Given the description of an element on the screen output the (x, y) to click on. 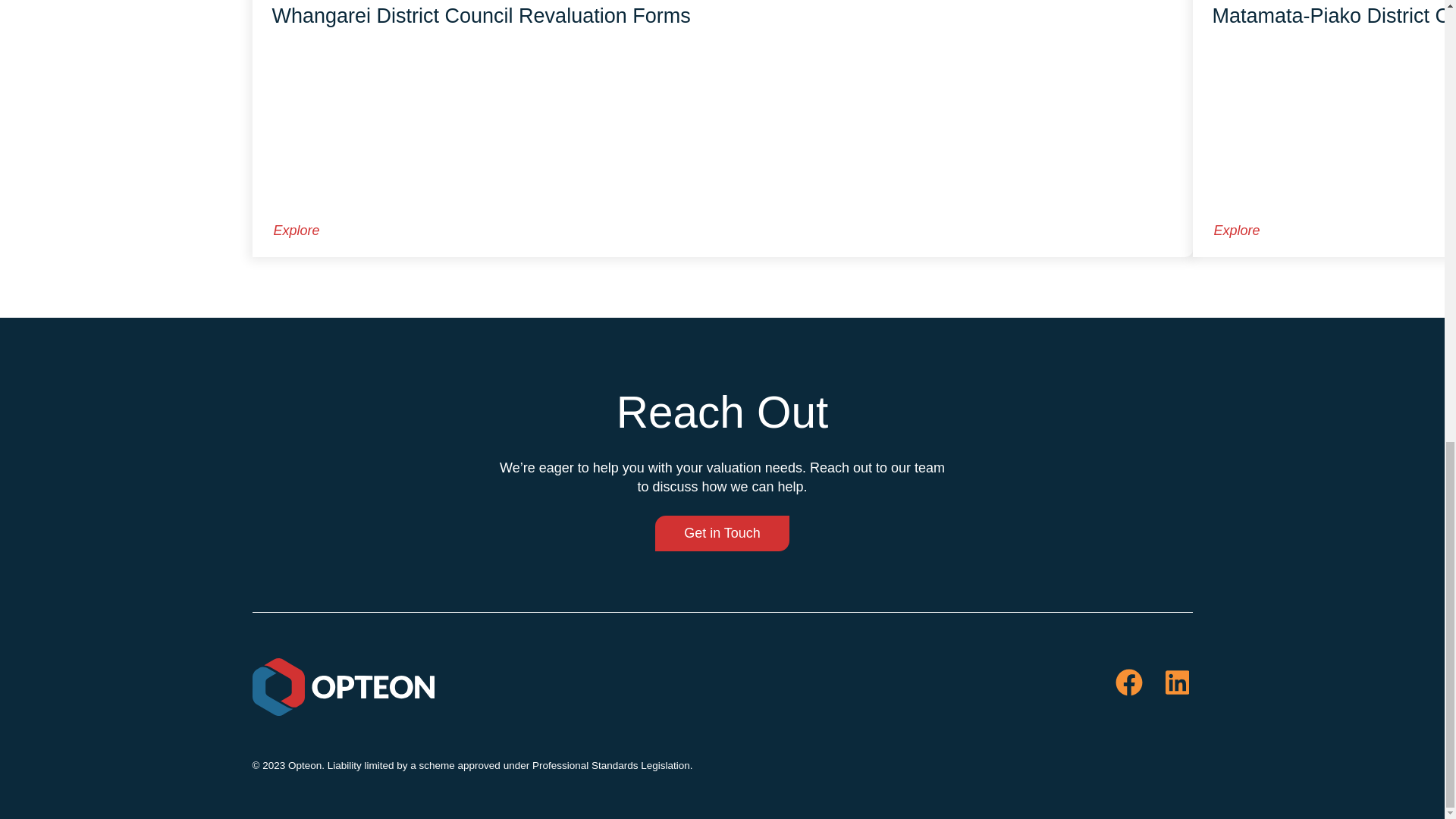
Whangarei District Council Revaluation Forms (480, 15)
